Given the description of an element on the screen output the (x, y) to click on. 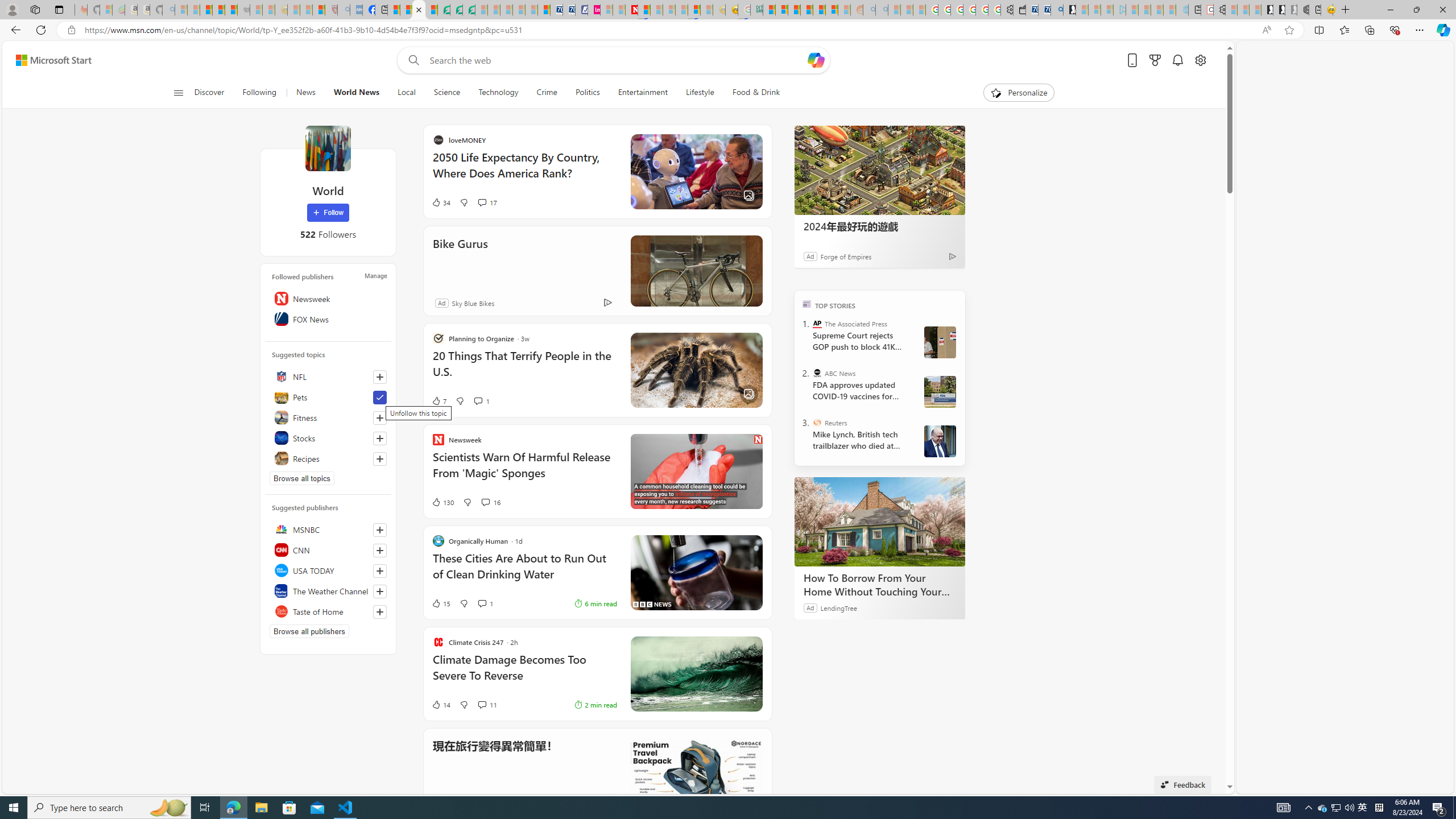
Jobs - lastminute.com Investor Portal (593, 9)
LendingTree - Compare Lenders (443, 9)
20 Things That Terrify People in the U.S. (633, 369)
